Given the description of an element on the screen output the (x, y) to click on. 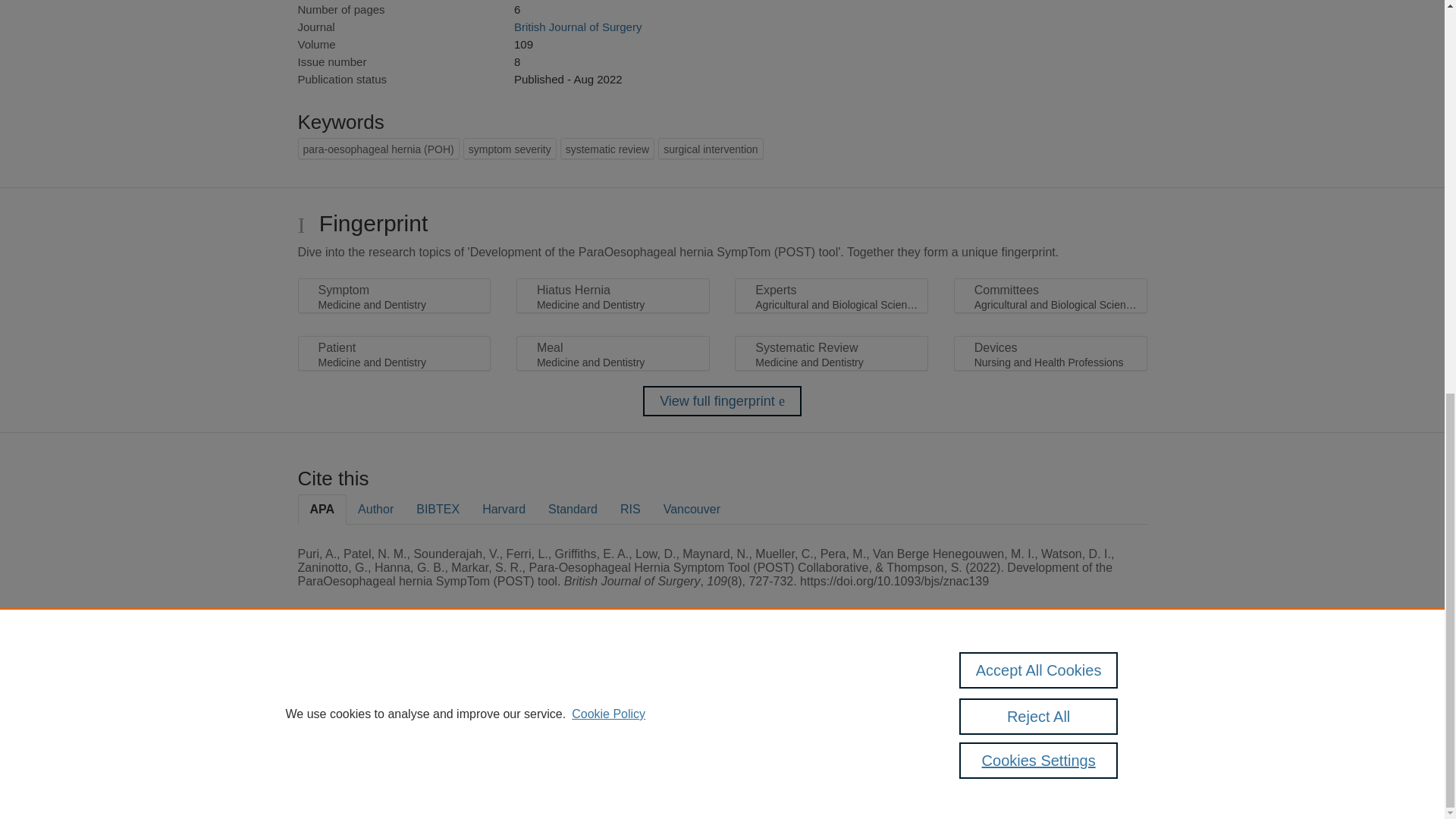
Elsevier B.V. (506, 707)
British Journal of Surgery (577, 26)
Scopus (394, 686)
Pure (362, 686)
View full fingerprint (722, 400)
